Given the description of an element on the screen output the (x, y) to click on. 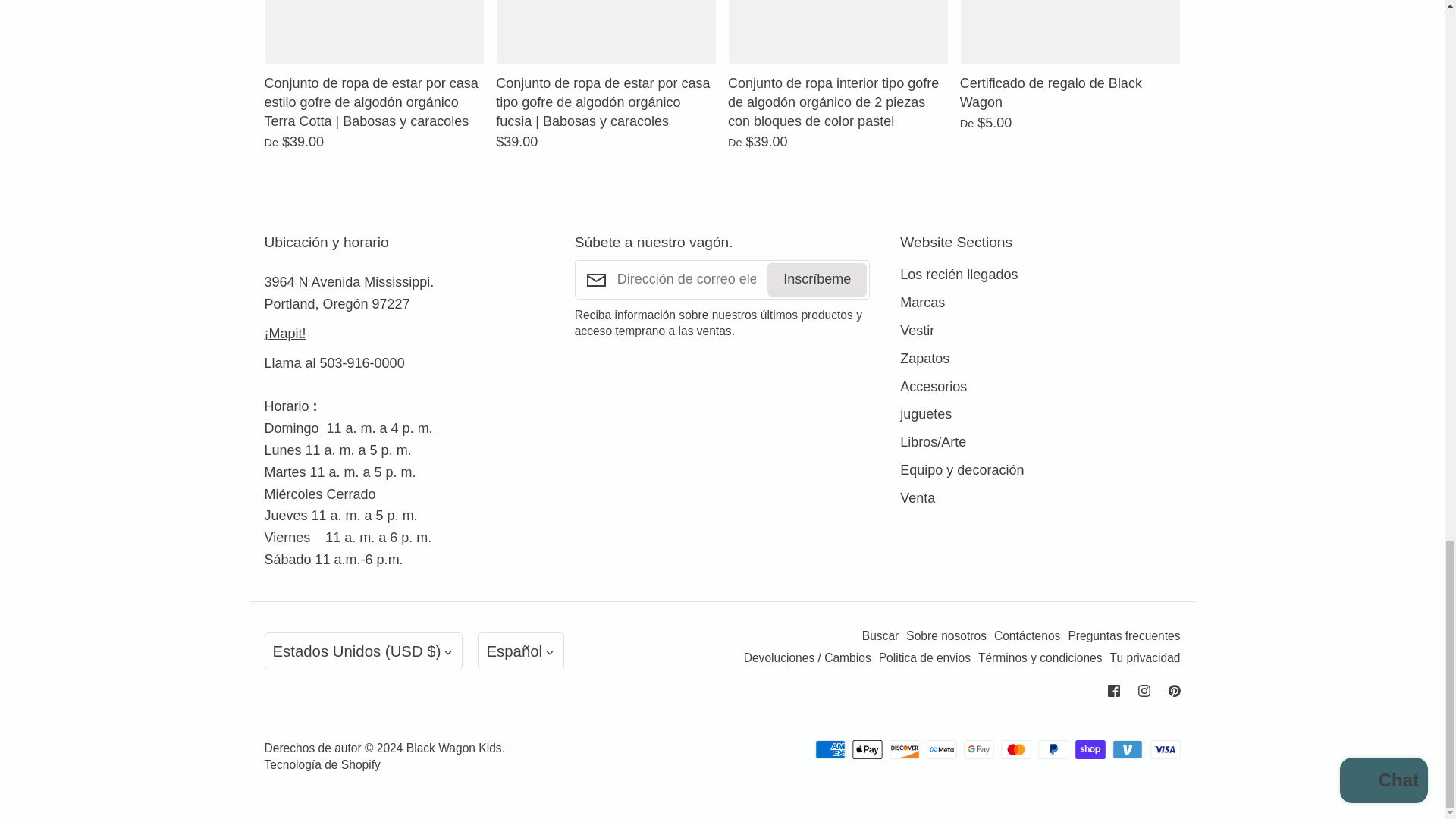
Google Pay (978, 749)
Llamar al carro negro (362, 363)
Meta Pay (941, 749)
American Express (830, 749)
Mastercard (1015, 749)
Apple Pay (866, 749)
PayPal (1053, 749)
Discover (904, 749)
